Given the description of an element on the screen output the (x, y) to click on. 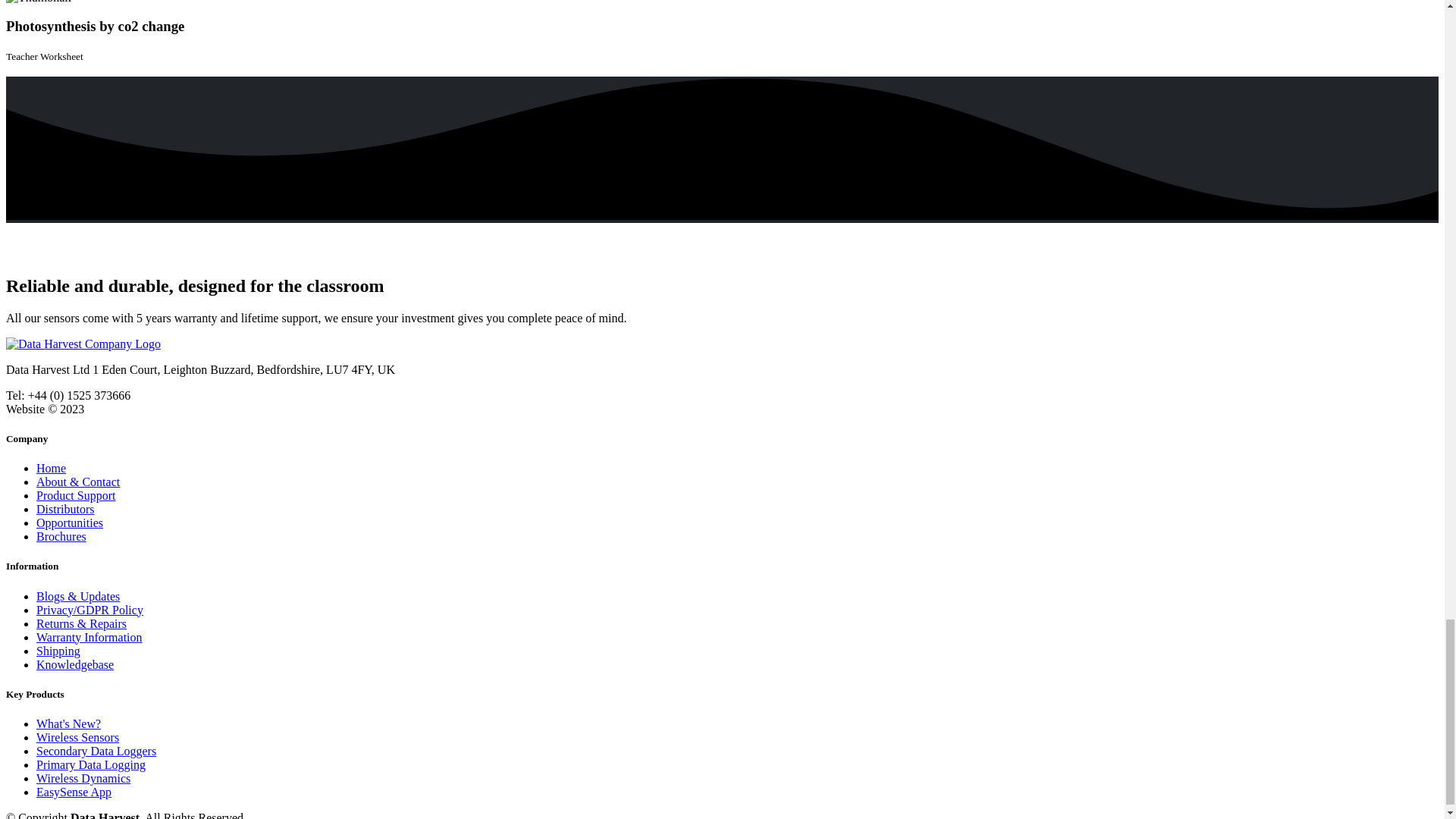
Data Harvest Company Logo (82, 344)
